Given the description of an element on the screen output the (x, y) to click on. 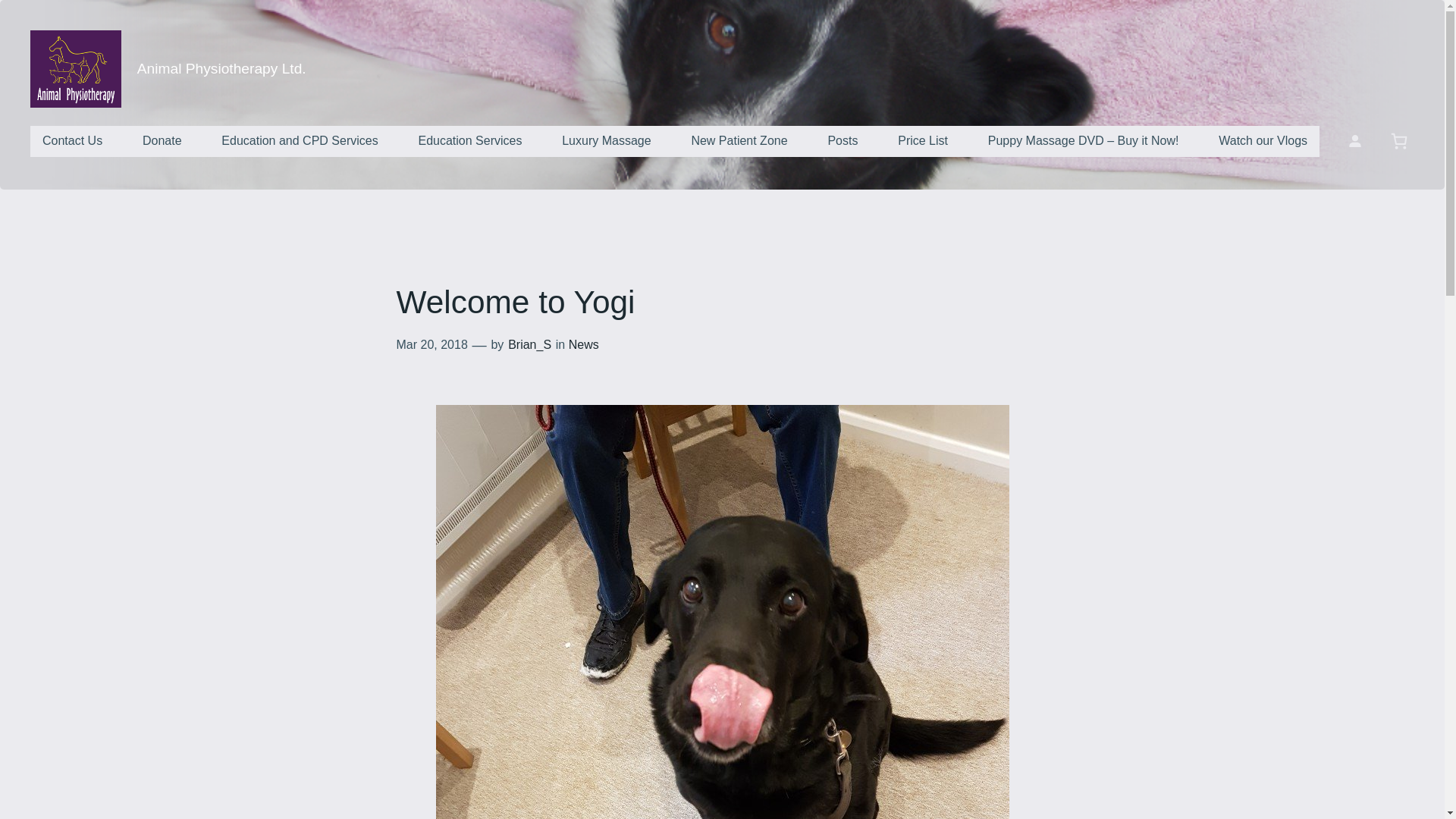
New Patient Zone (738, 141)
Education Services (470, 141)
Posts (842, 141)
Animal Physiotherapy Ltd. (220, 68)
Contact Us (72, 141)
Watch our Vlogs (1263, 141)
Price List (922, 141)
Education and CPD Services (299, 141)
Donate (162, 141)
Luxury Massage (606, 141)
Mar 20, 2018 (431, 344)
News (583, 344)
